Given the description of an element on the screen output the (x, y) to click on. 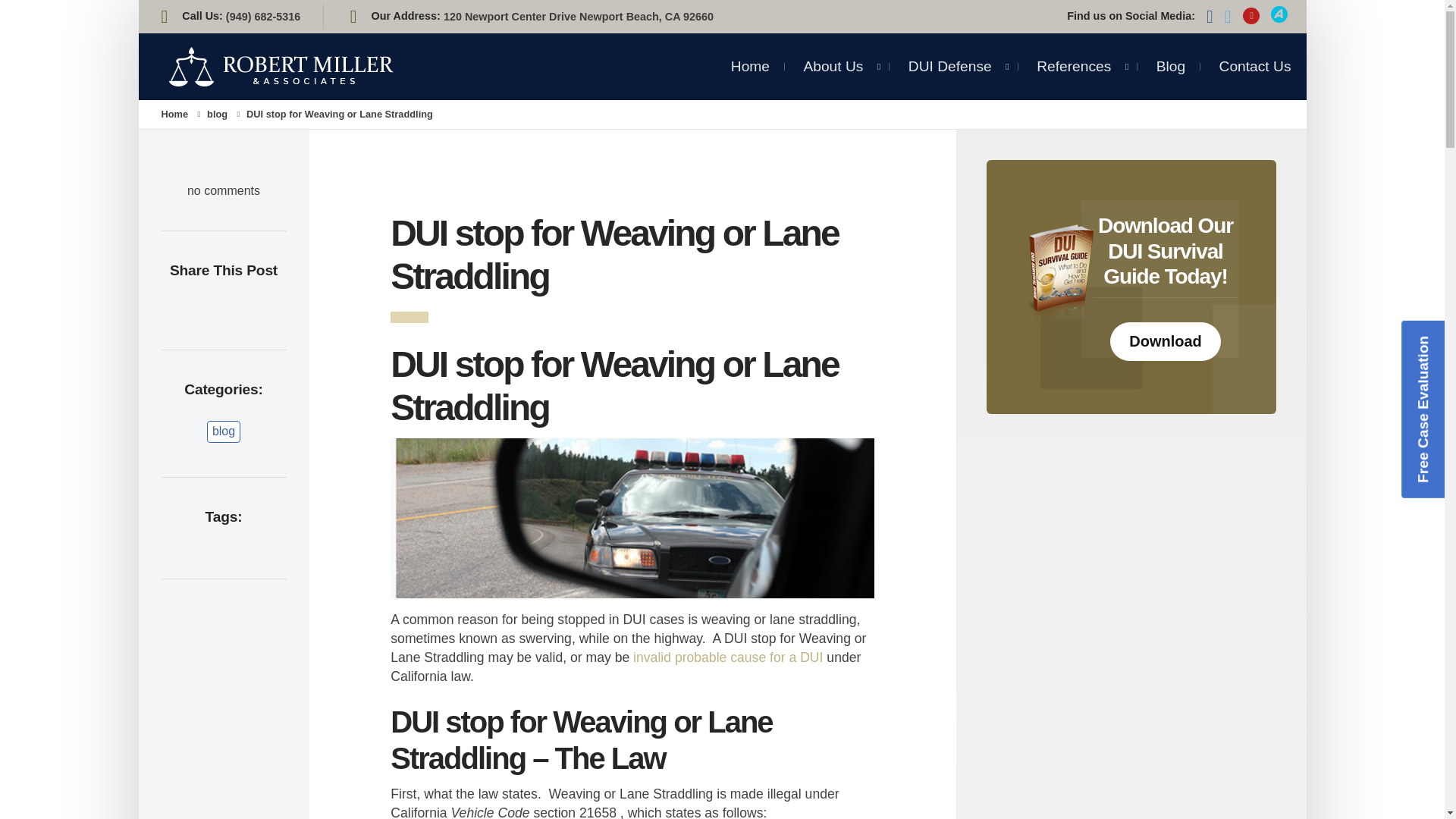
120 Newport Center Drive Newport Beach, CA 92660 (578, 17)
Home (750, 60)
DUI Defense (949, 66)
About Us (833, 61)
View all posts in blog (216, 114)
